Given the description of an element on the screen output the (x, y) to click on. 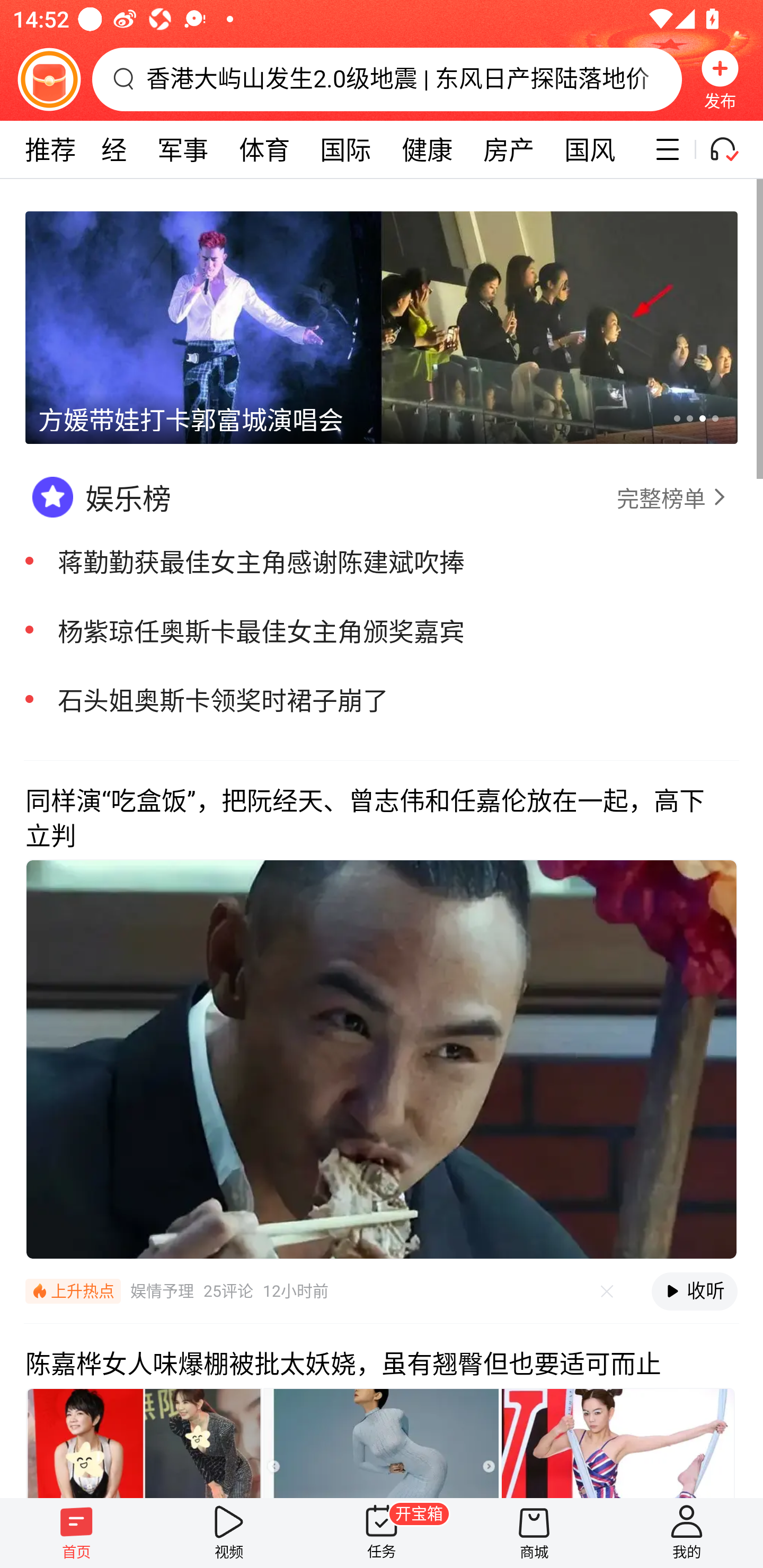
阅读赚金币 (48, 79)
发布 发布，按钮 (720, 78)
推荐 (49, 149)
军事 (182, 149)
体育 (264, 149)
国际 (345, 149)
健康 (427, 149)
房产 (508, 149)
国风 (589, 149)
听一听开关 (732, 149)
收听 (694, 1290)
不感兴趣 (607, 1291)
首页 (76, 1532)
视频 (228, 1532)
任务 开宝箱 (381, 1532)
商城 (533, 1532)
我的 (686, 1532)
